Given the description of an element on the screen output the (x, y) to click on. 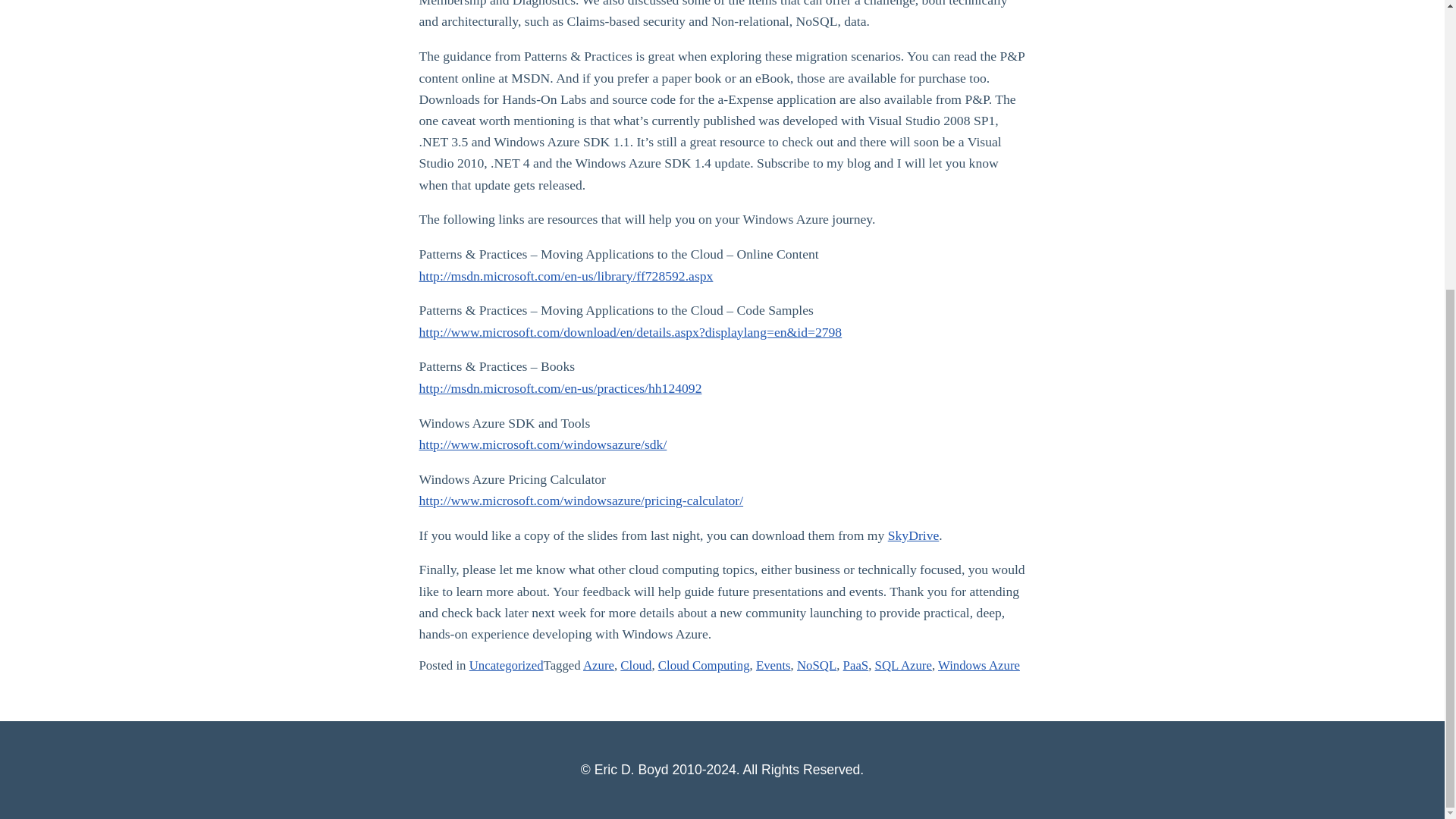
Azure (598, 665)
Windows Azure (978, 665)
NoSQL (815, 665)
Cloud Computing (703, 665)
SkyDrive (913, 534)
PaaS (856, 665)
Events (772, 665)
Cloud (635, 665)
Uncategorized (505, 665)
SQL Azure (903, 665)
